Given the description of an element on the screen output the (x, y) to click on. 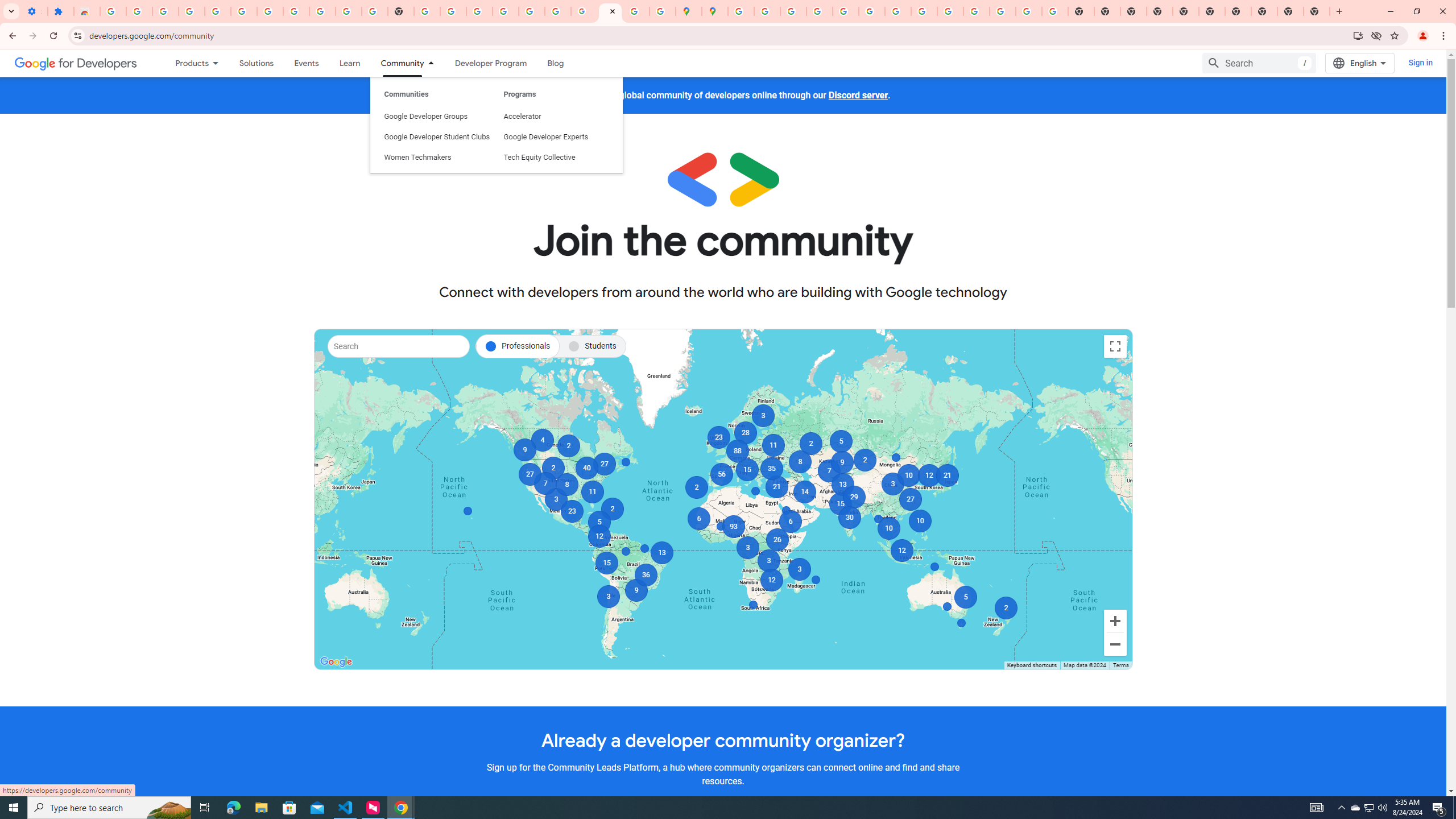
Terms (1120, 665)
Discord server (858, 95)
Google Images (1054, 11)
11 (592, 491)
88 (736, 450)
